Given the description of an element on the screen output the (x, y) to click on. 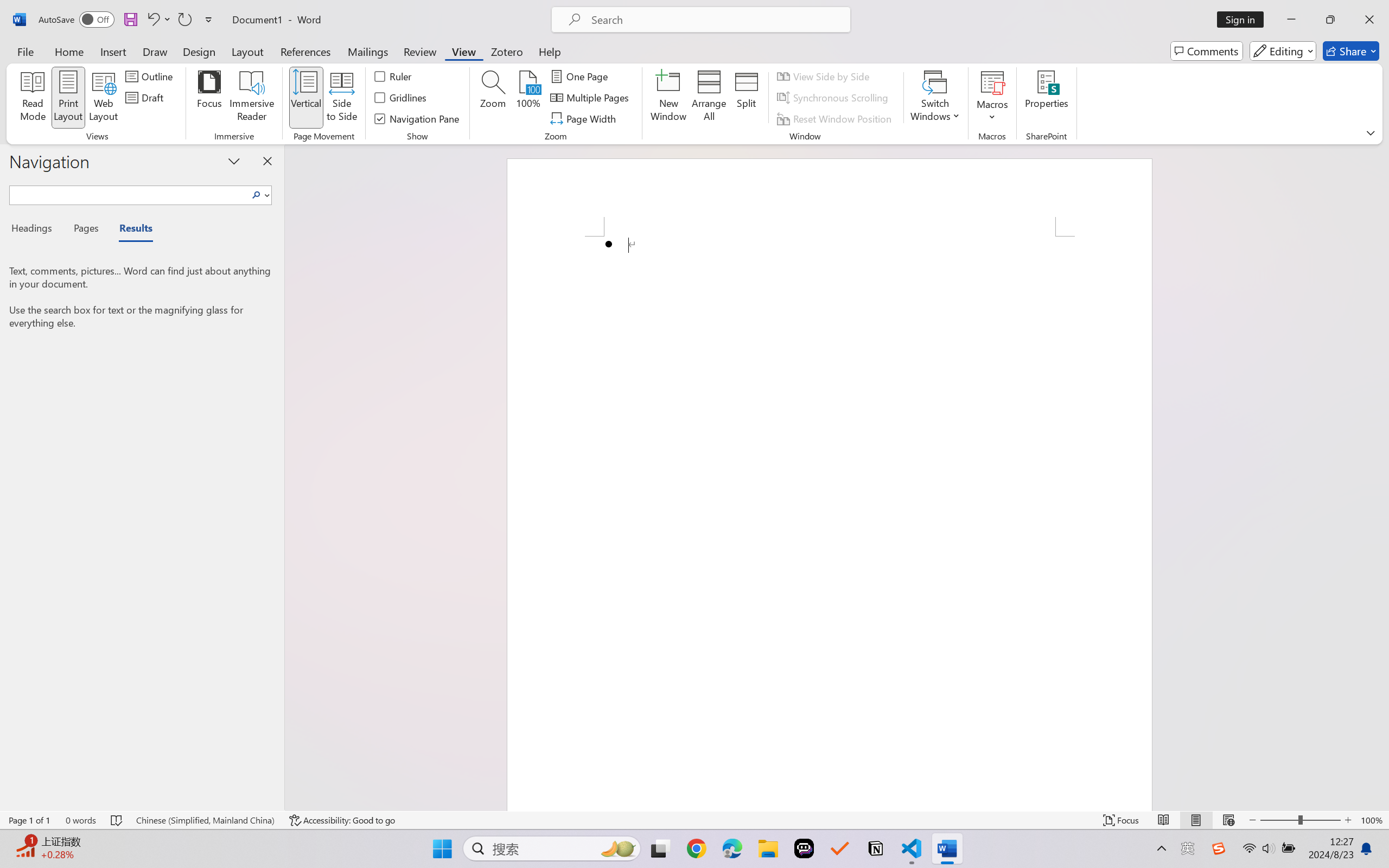
View Macros (992, 81)
Macros (992, 97)
